Given the description of an element on the screen output the (x, y) to click on. 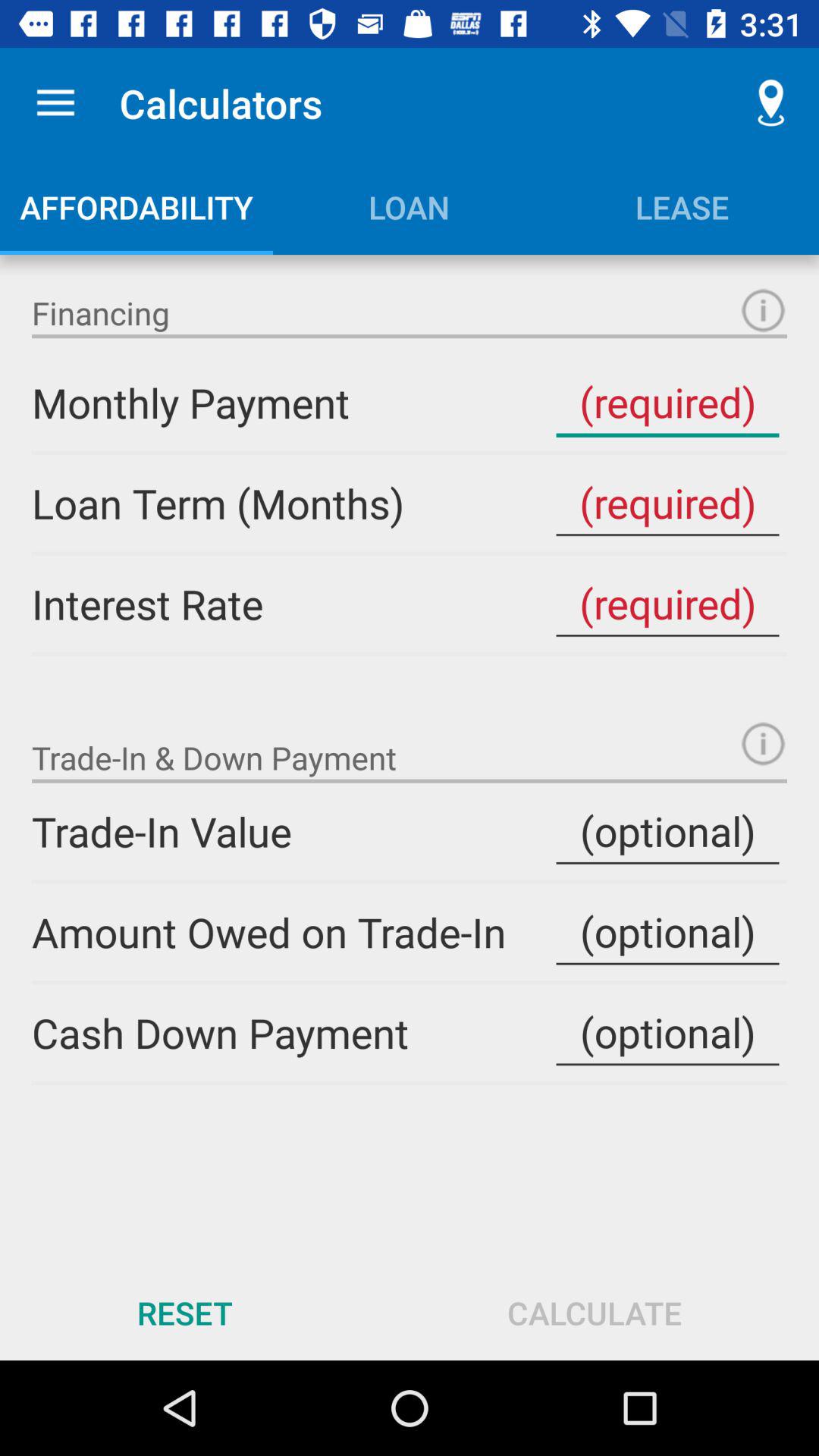
enter amount owed on trade-in (667, 931)
